Given the description of an element on the screen output the (x, y) to click on. 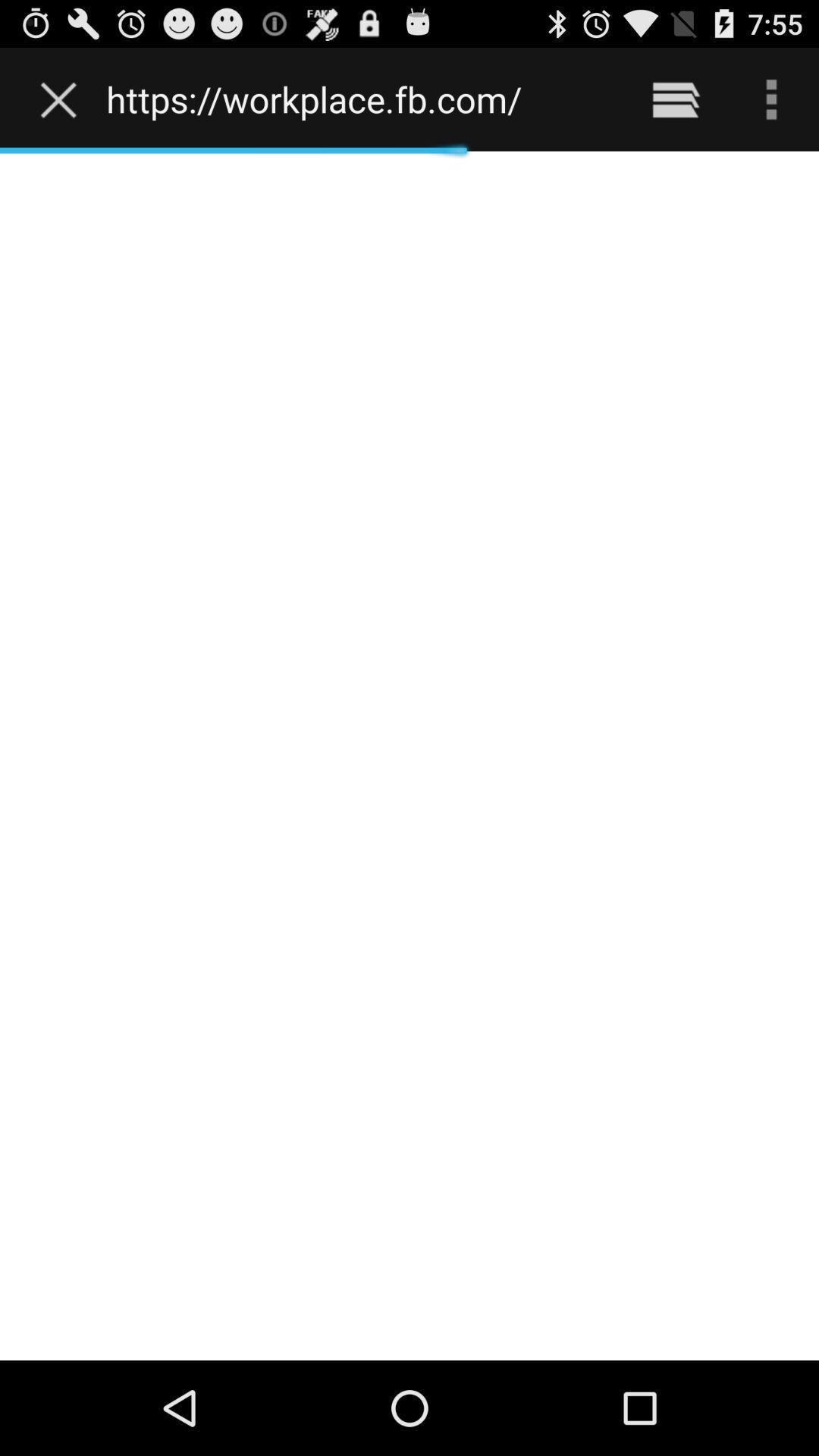
open icon at the top left corner (62, 99)
